Given the description of an element on the screen output the (x, y) to click on. 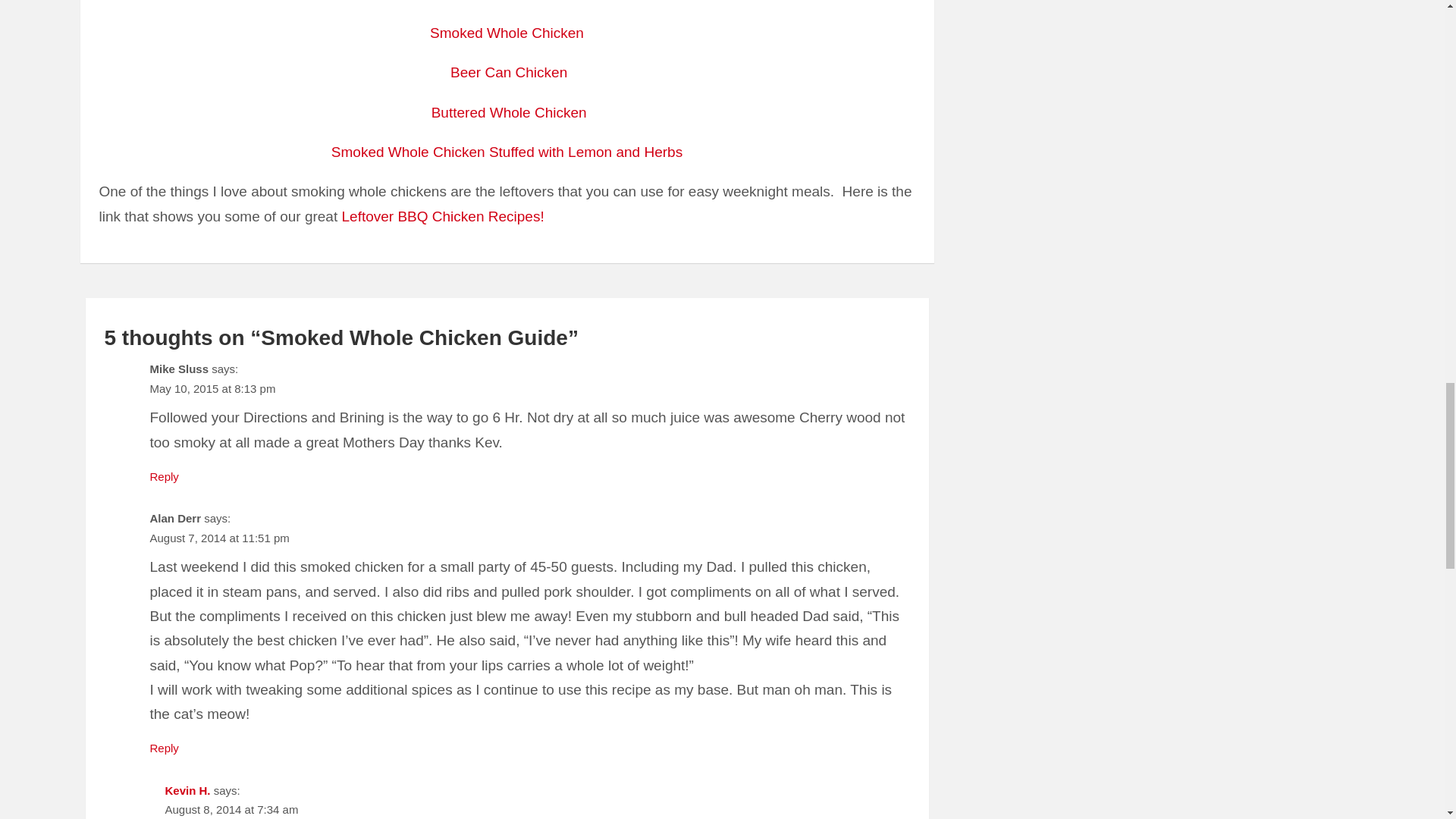
Smoked Whole Chicken (506, 32)
Beer Can Chicken (508, 72)
Buttered Whole Chicken (508, 112)
Herb Devoured Whole Chicken (506, 151)
